Given the description of an element on the screen output the (x, y) to click on. 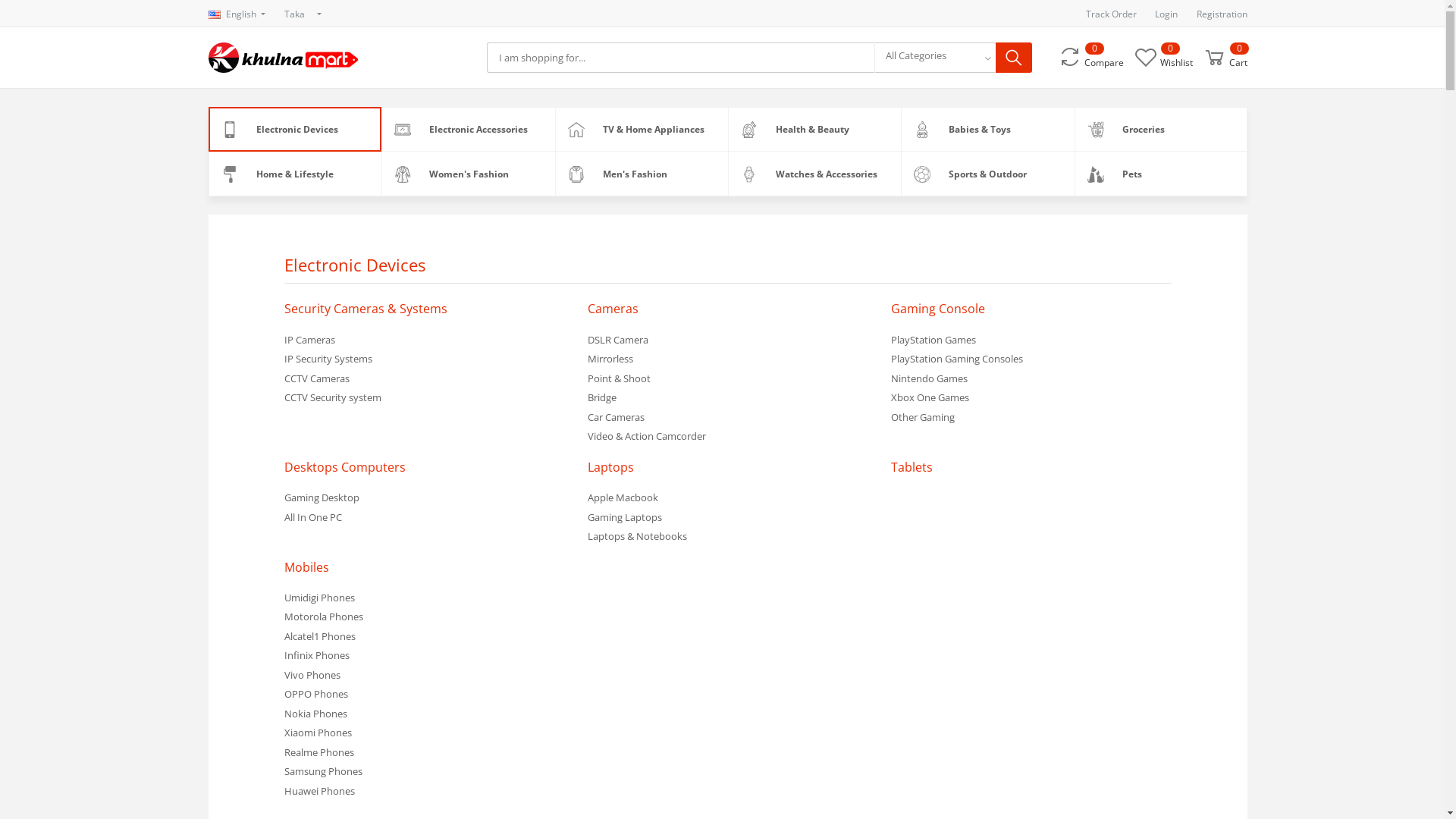
IP Cameras Element type: text (424, 340)
Mirrorless Element type: text (727, 359)
Nintendo Games Element type: text (1031, 379)
Babies & Toys Element type: text (987, 129)
Umidigi Phones Element type: text (424, 598)
Mobiles Element type: text (306, 566)
Alcatel1 Phones Element type: text (424, 636)
Nokia Phones Element type: text (424, 714)
Women's Fashion Element type: text (467, 174)
Pets Element type: text (1160, 174)
Electronic Devices Element type: text (294, 129)
Registration Element type: text (1221, 14)
Bridge Element type: text (727, 397)
Motorola Phones Element type: text (424, 617)
Video & Action Camcorder Element type: text (727, 436)
Cart
0 Element type: text (1224, 57)
Electronic Devices Element type: text (354, 264)
CCTV Cameras Element type: text (424, 379)
Huawei Phones Element type: text (424, 791)
Watches & Accessories Element type: text (814, 174)
Gaming Laptops Element type: text (727, 517)
Infinix Phones Element type: text (424, 655)
Login Element type: text (1165, 14)
Cameras Element type: text (612, 308)
Sports & Outdoor Element type: text (987, 174)
English Element type: text (236, 14)
Gaming Desktop Element type: text (424, 498)
Men's Fashion Element type: text (641, 174)
Groceries Element type: text (1160, 129)
Compare
0 Element type: text (1090, 57)
Tablets Element type: text (911, 466)
Xiaomi Phones Element type: text (424, 733)
IP Security Systems Element type: text (424, 359)
Other Gaming Element type: text (1031, 417)
PlayStation Gaming Consoles Element type: text (1031, 359)
Xbox One Games Element type: text (1031, 397)
PlayStation Games Element type: text (1031, 340)
Home & Lifestyle Element type: text (294, 174)
Desktops Computers Element type: text (344, 466)
Track Order Element type: text (1110, 14)
All In One PC Element type: text (424, 517)
DSLR Camera Element type: text (727, 340)
OPPO Phones Element type: text (424, 694)
Security Cameras & Systems Element type: text (365, 308)
CCTV Security system Element type: text (424, 397)
Car Cameras Element type: text (727, 417)
Gaming Console Element type: text (938, 308)
Laptops & Notebooks Element type: text (727, 536)
Apple Macbook Element type: text (727, 498)
Samsung Phones Element type: text (424, 771)
Point & Shoot Element type: text (727, 379)
Health & Beauty Element type: text (814, 129)
Vivo Phones Element type: text (424, 675)
Electronic Accessories Element type: text (467, 129)
Realme Phones Element type: text (424, 752)
Laptops Element type: text (610, 466)
Wishlist
0 Element type: text (1162, 57)
TV & Home Appliances Element type: text (641, 129)
